Given the description of an element on the screen output the (x, y) to click on. 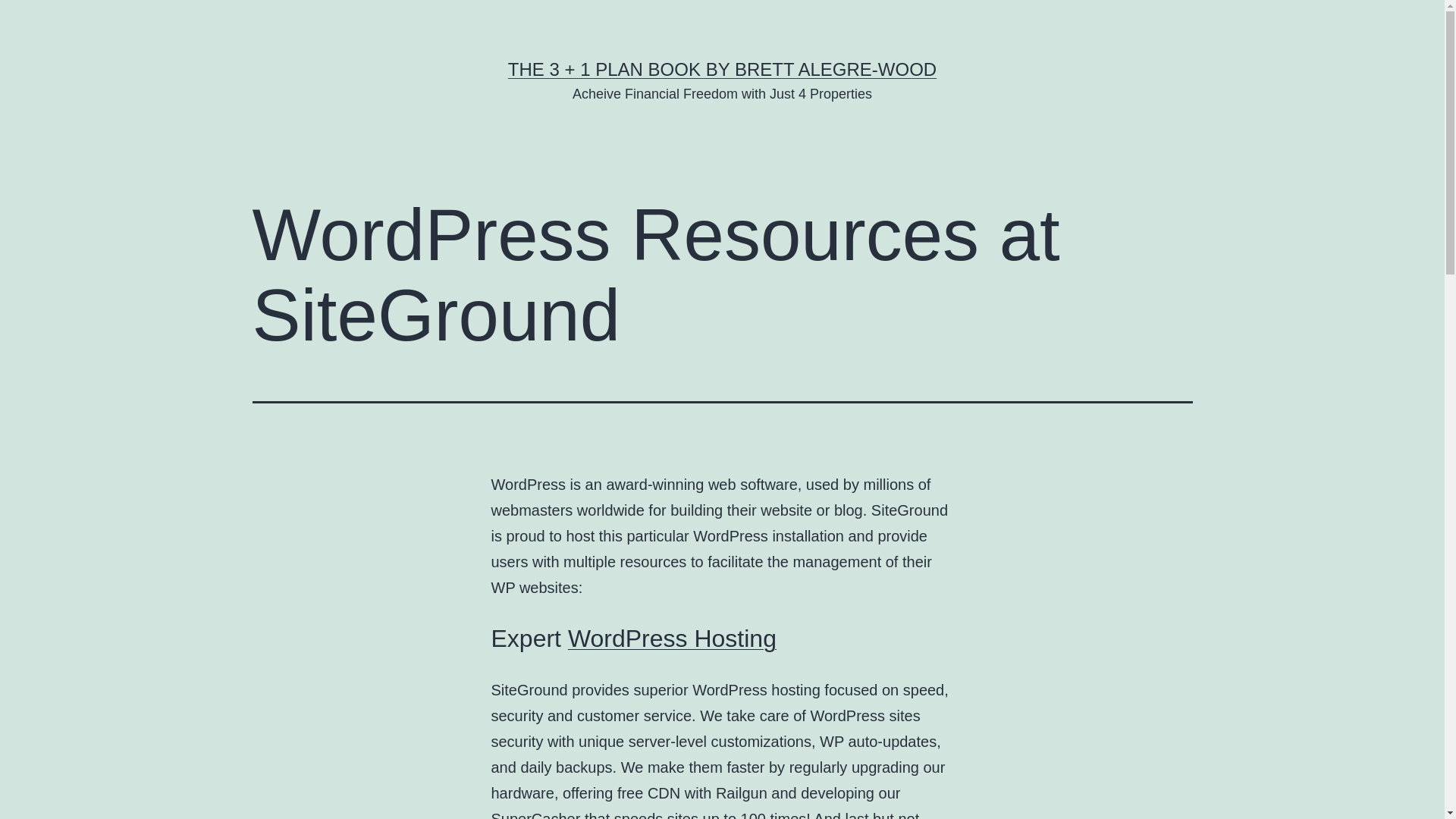
THE 3 + 1 PLAN BOOK BY BRETT ALEGRE-WOOD Element type: text (722, 69)
WordPress Hosting Element type: text (671, 638)
